Given the description of an element on the screen output the (x, y) to click on. 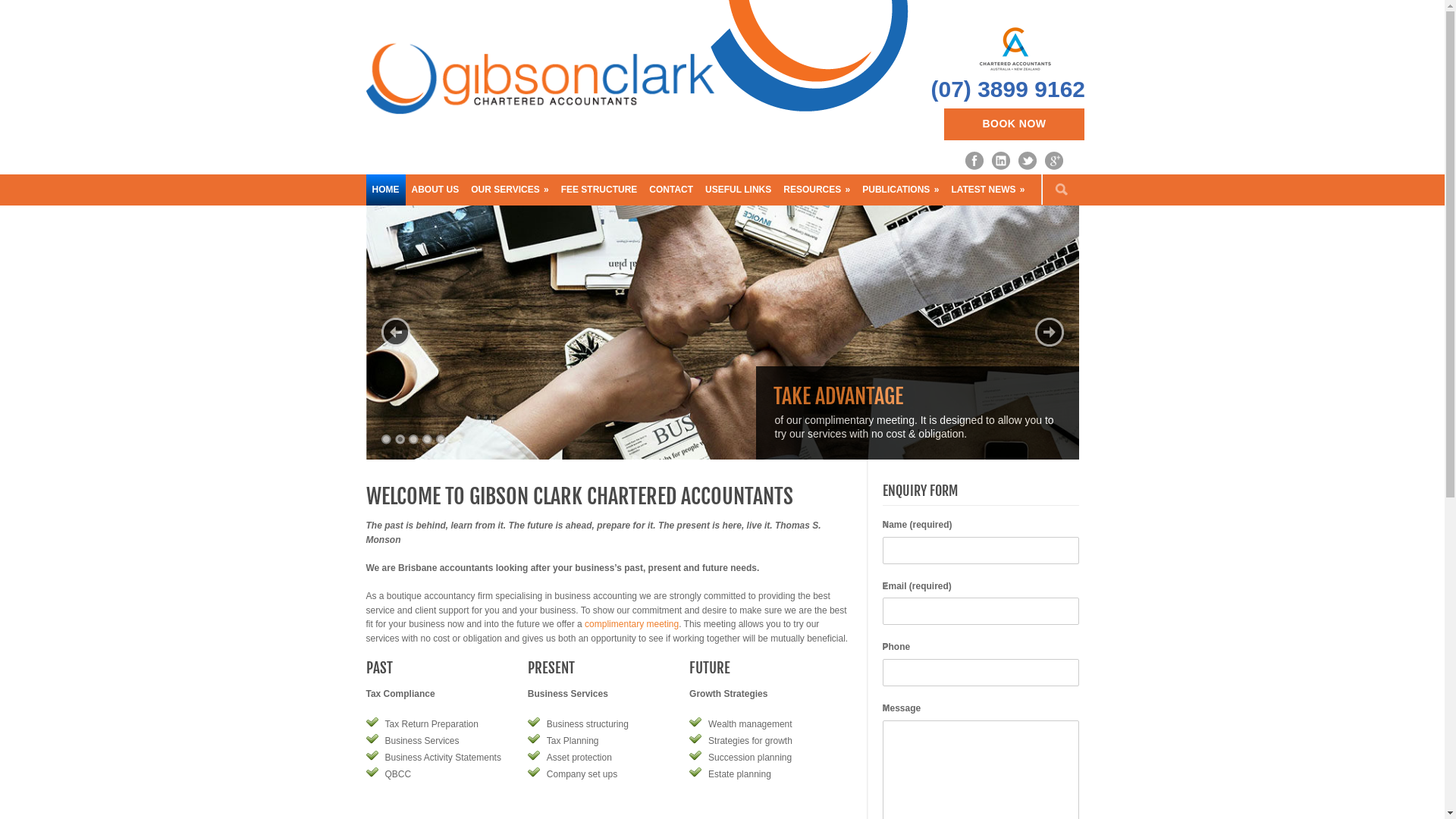
FEE STRUCTURE Element type: text (599, 189)
USEFUL LINKS Element type: text (738, 189)
BOOK NOW Element type: text (1013, 124)
CONTACT Element type: text (671, 189)
1 Element type: text (385, 439)
2 Element type: text (399, 439)
Next Element type: text (1048, 331)
(07) 3899 9162 Element type: text (1008, 88)
4 Element type: text (426, 439)
3 Element type: text (412, 439)
5 Element type: text (440, 439)
Previous Element type: text (394, 331)
complimentary meeting Element type: text (631, 623)
ABOUT US Element type: text (434, 189)
HOME Element type: text (384, 189)
